Given the description of an element on the screen output the (x, y) to click on. 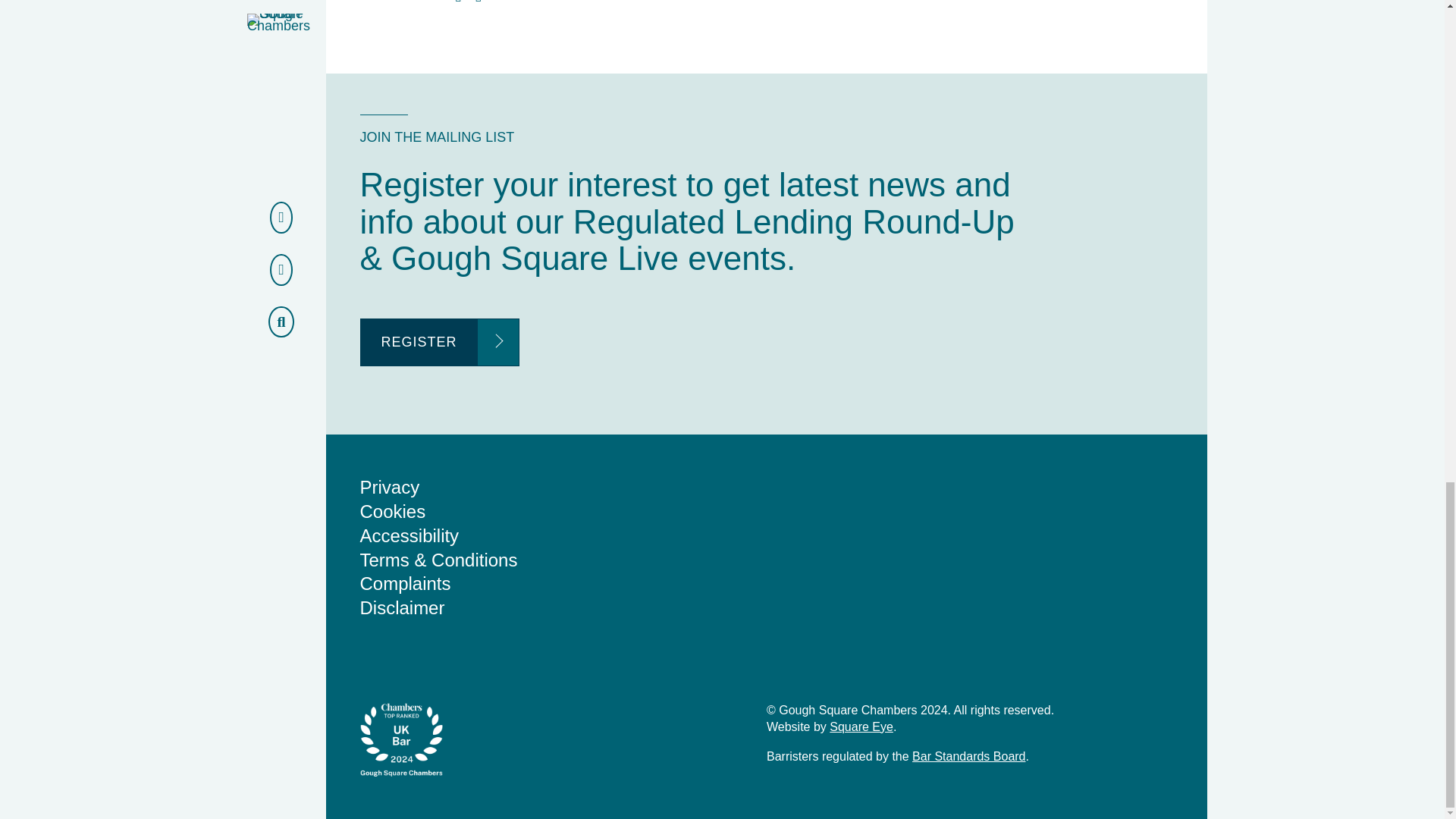
Tweet this (457, 2)
Square Eye (861, 725)
